Given the description of an element on the screen output the (x, y) to click on. 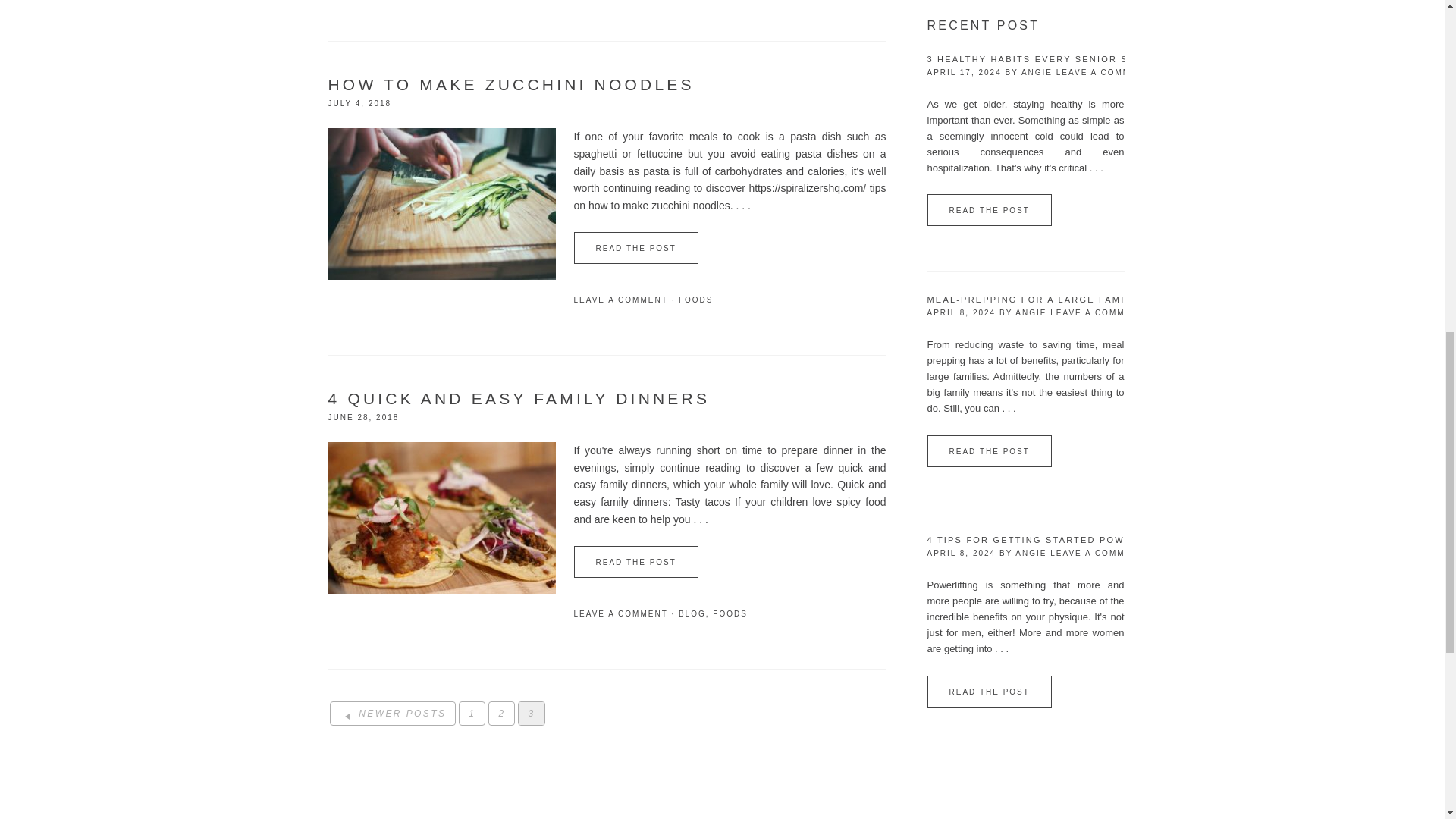
4 QUICK AND EASY FAMILY DINNERS (518, 398)
FOODS (695, 299)
READ THE POST (635, 247)
HOW TO MAKE ZUCCHINI NOODLES (510, 84)
LEAVE A COMMENT (619, 299)
